Given the description of an element on the screen output the (x, y) to click on. 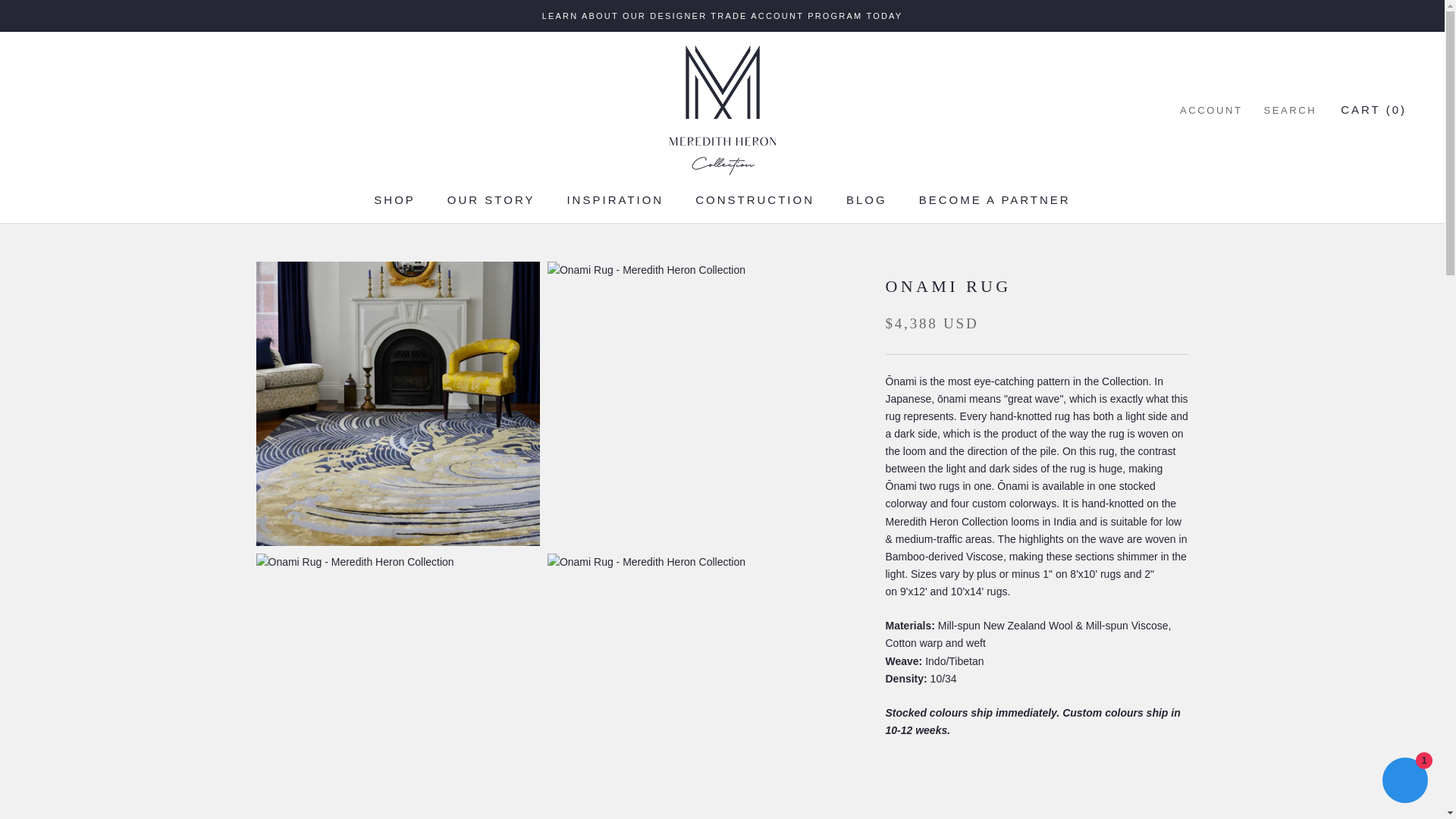
LEARN ABOUT OUR DESIGNER TRADE ACCOUNT PROGRAM TODAY (490, 199)
ACCOUNT (721, 15)
Shopify online store chat (1210, 109)
SEARCH (394, 199)
